Given the description of an element on the screen output the (x, y) to click on. 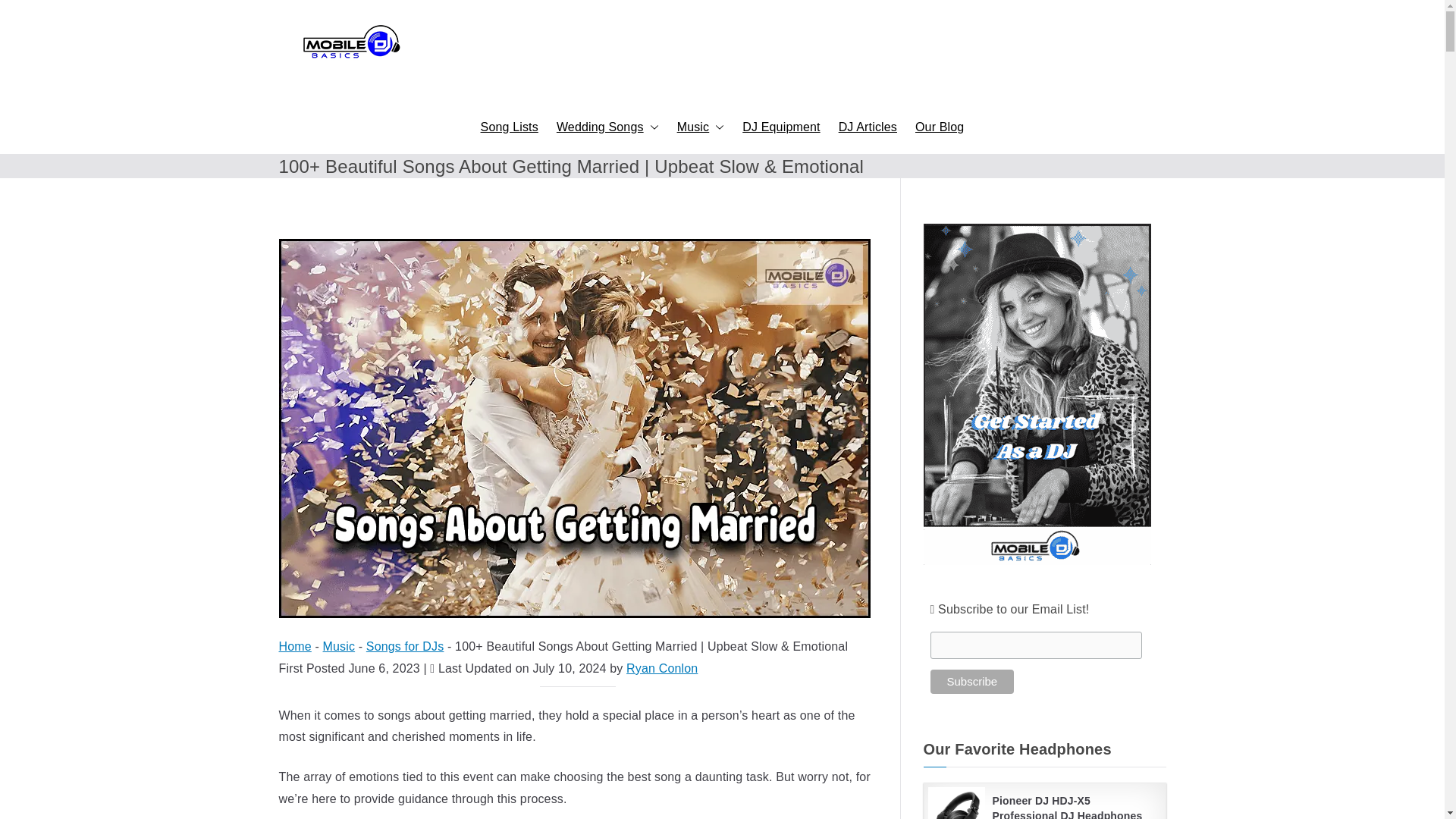
Music For DJs (701, 127)
DJ Equipment (780, 127)
Our Blog (939, 127)
Mobile DJ Basics (848, 121)
DJ Song Lists (509, 127)
DJ Articles (867, 127)
Song Lists (509, 127)
DJ Articles (867, 127)
the logo for mobile DJ basics. (350, 43)
Wedding Songs (607, 127)
Wedding Songs (607, 127)
Subscribe (971, 681)
Mobile DJ Equipment Reviews (780, 127)
Music (701, 127)
